Given the description of an element on the screen output the (x, y) to click on. 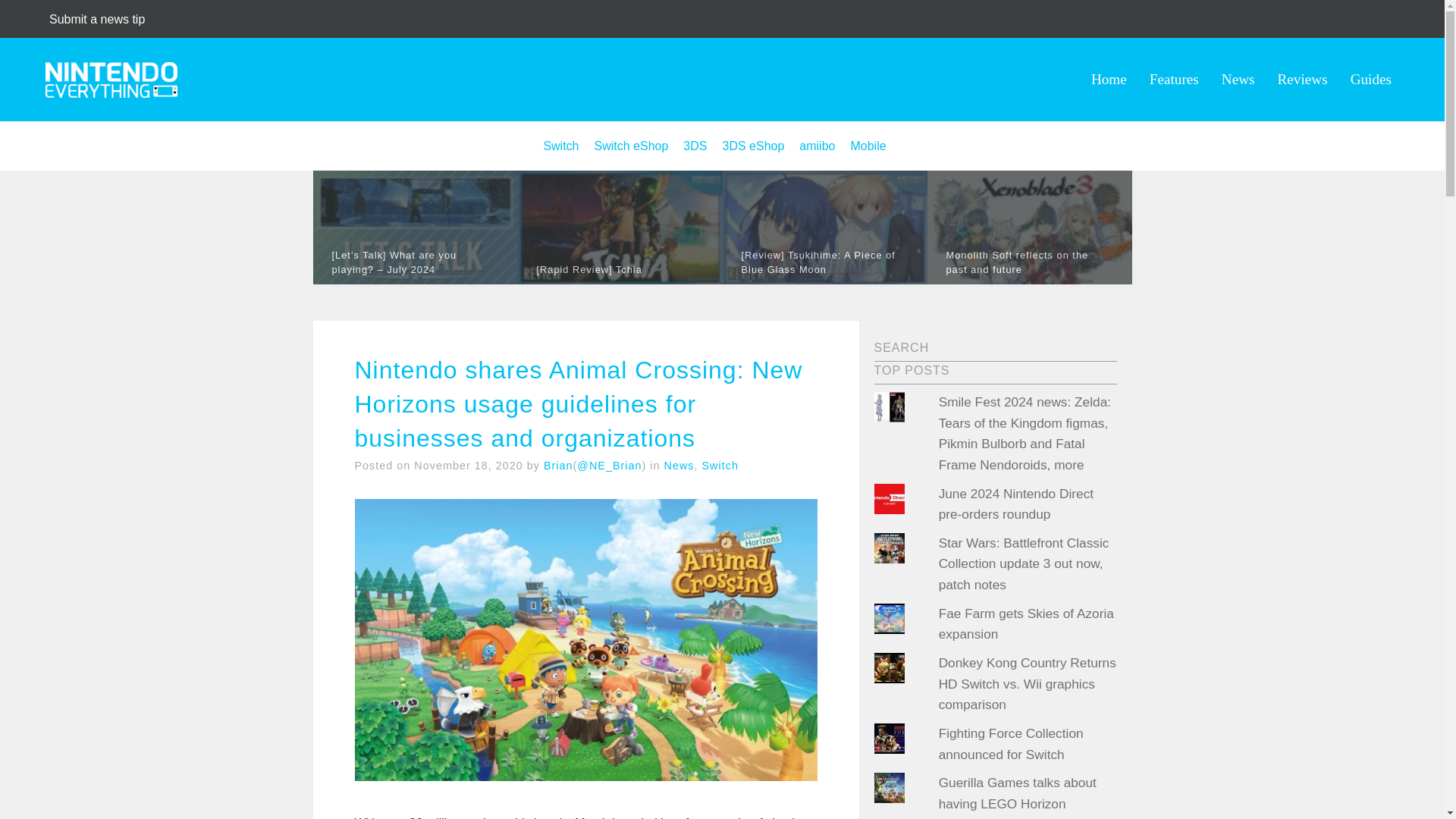
Submit a news tip (97, 19)
3DS (694, 145)
3DS eShop (753, 145)
Features (1174, 78)
Guides (1371, 78)
Switch eShop (631, 145)
Switch (719, 465)
Brian (558, 465)
Mobile (867, 145)
News (678, 465)
Home (1108, 78)
Switch (560, 145)
amiibo (816, 145)
Posts by Brian (558, 465)
